Given the description of an element on the screen output the (x, y) to click on. 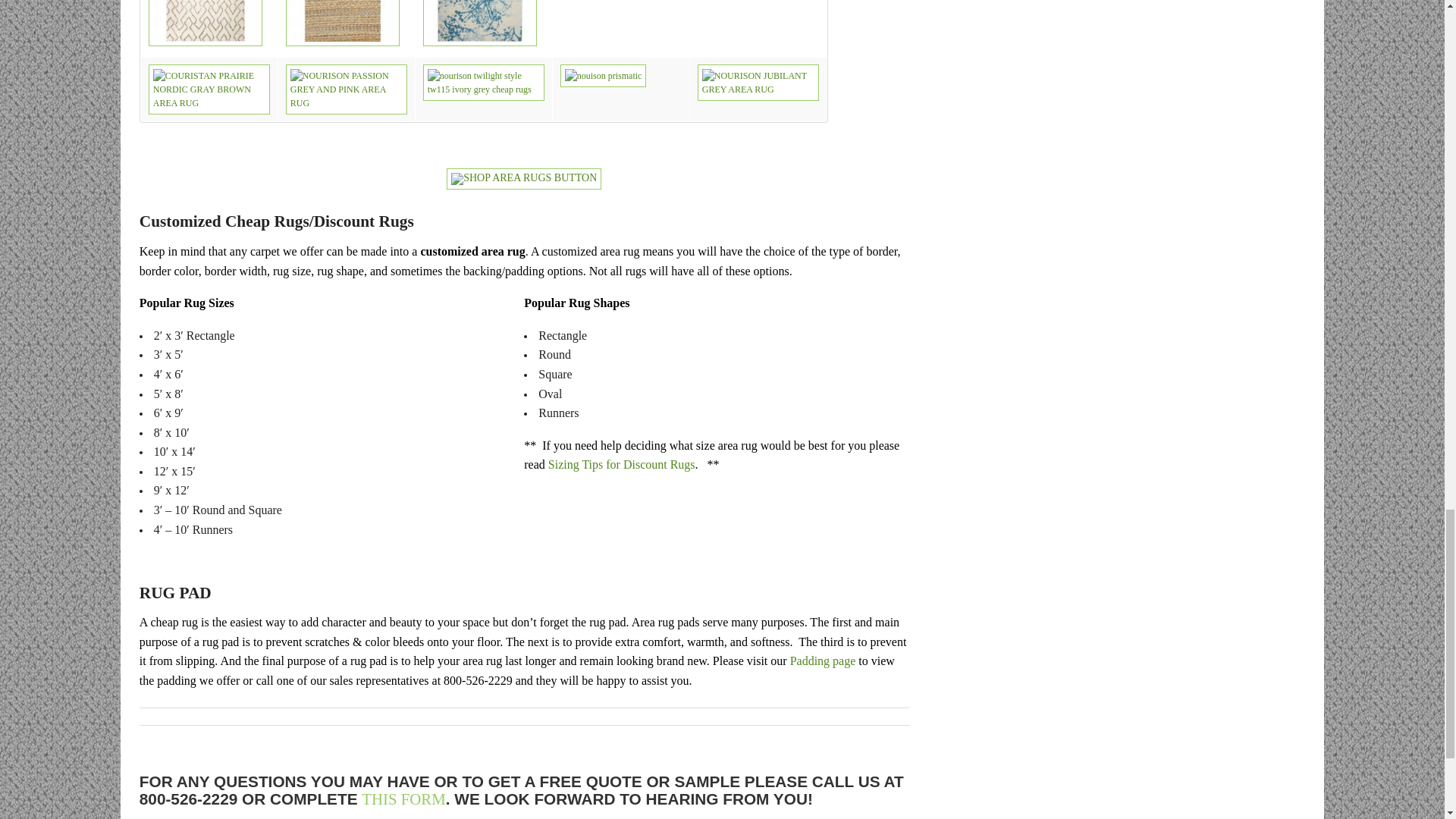
THIS FORM (403, 798)
Padding page (823, 660)
Sizing Tips for Discount Rugs (621, 463)
